Given the description of an element on the screen output the (x, y) to click on. 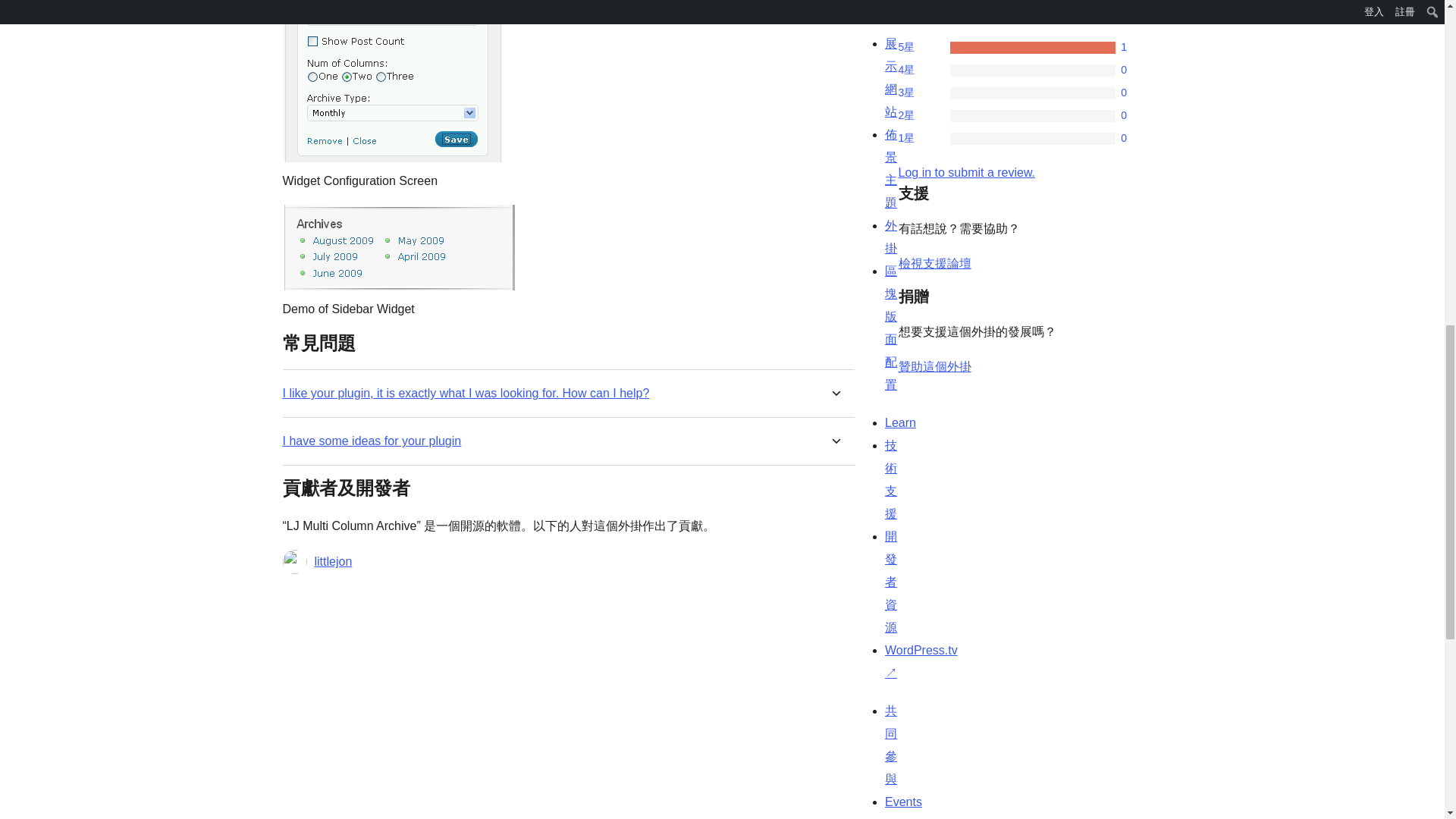
I have some ideas for your plugin (371, 440)
Log in to WordPress.org (966, 172)
